Given the description of an element on the screen output the (x, y) to click on. 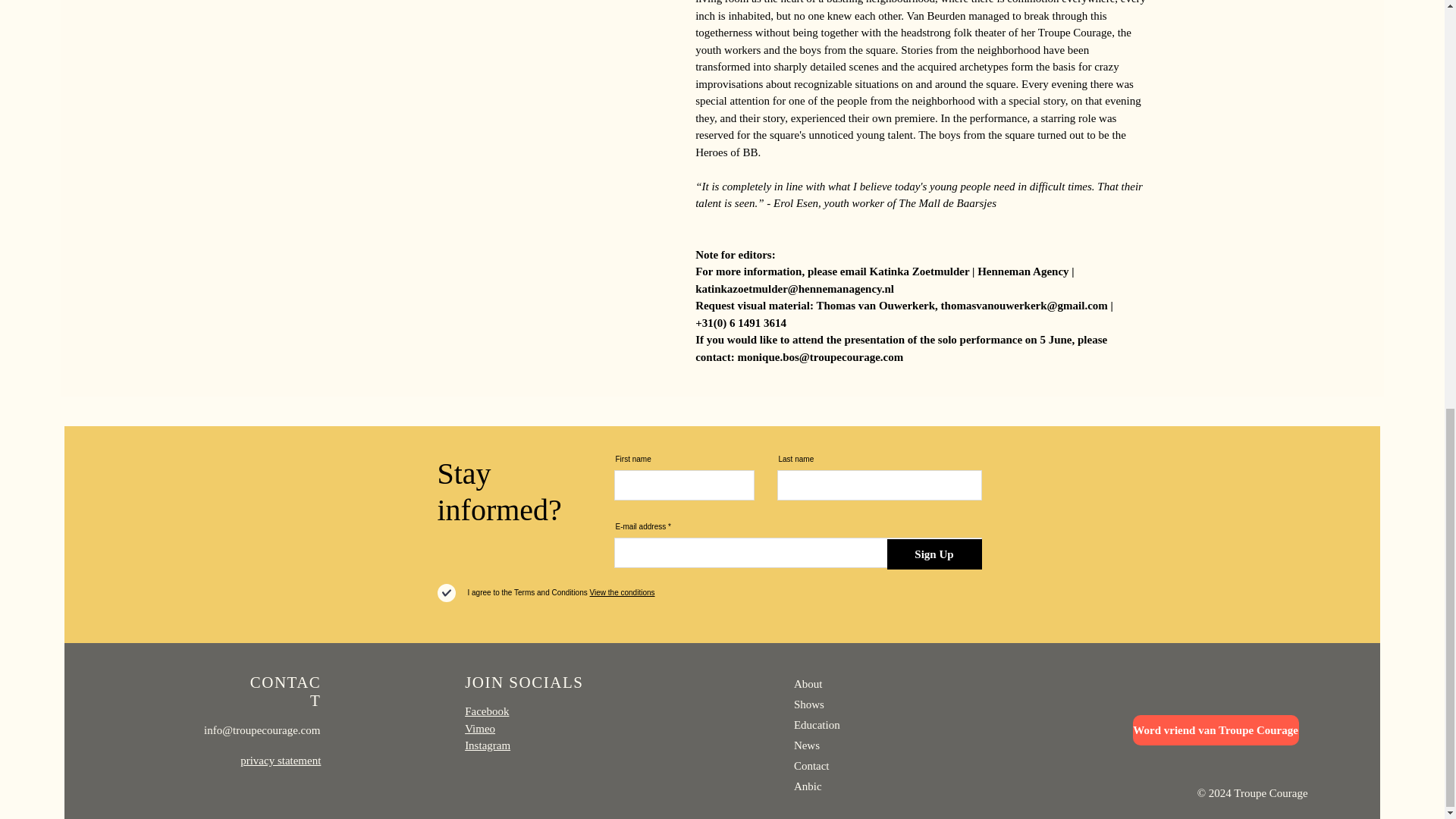
Shows (808, 703)
Facebook (486, 711)
News (806, 744)
Instagram (487, 745)
Vimeo (479, 727)
Sign Up (933, 553)
Education (816, 725)
About (807, 684)
View the conditions (621, 592)
privacy statement (280, 760)
